Given the description of an element on the screen output the (x, y) to click on. 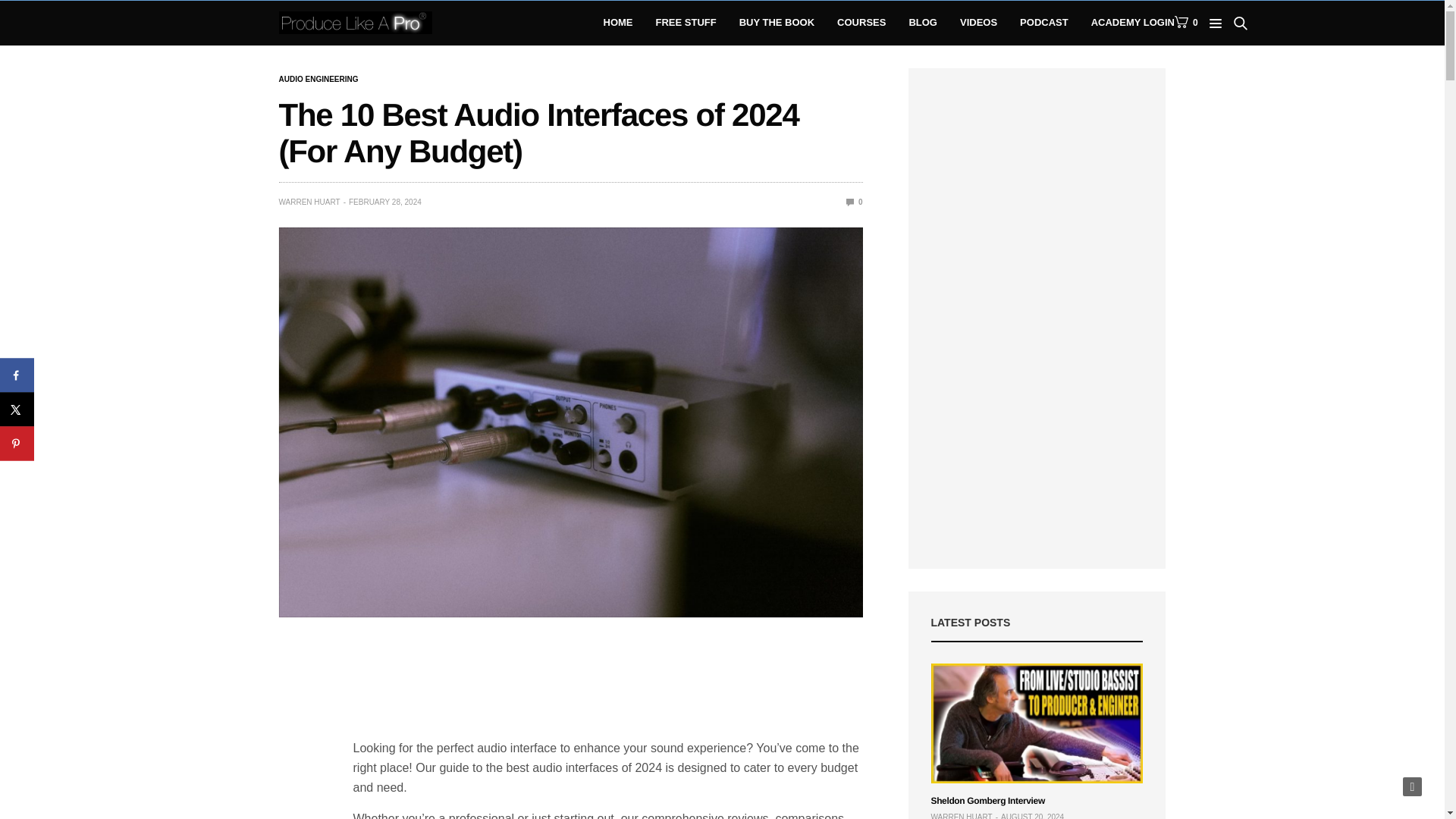
FREE STUFF (685, 23)
Sheldon Gomberg Interview (988, 800)
Sheldon Gomberg Interview (1036, 722)
0 (853, 202)
AUDIO ENGINEERING (318, 79)
ACADEMY LOGIN (1132, 23)
BLOG (922, 23)
BUY THE BOOK (776, 23)
3rd party ad content (608, 681)
Search (1218, 66)
